Given the description of an element on the screen output the (x, y) to click on. 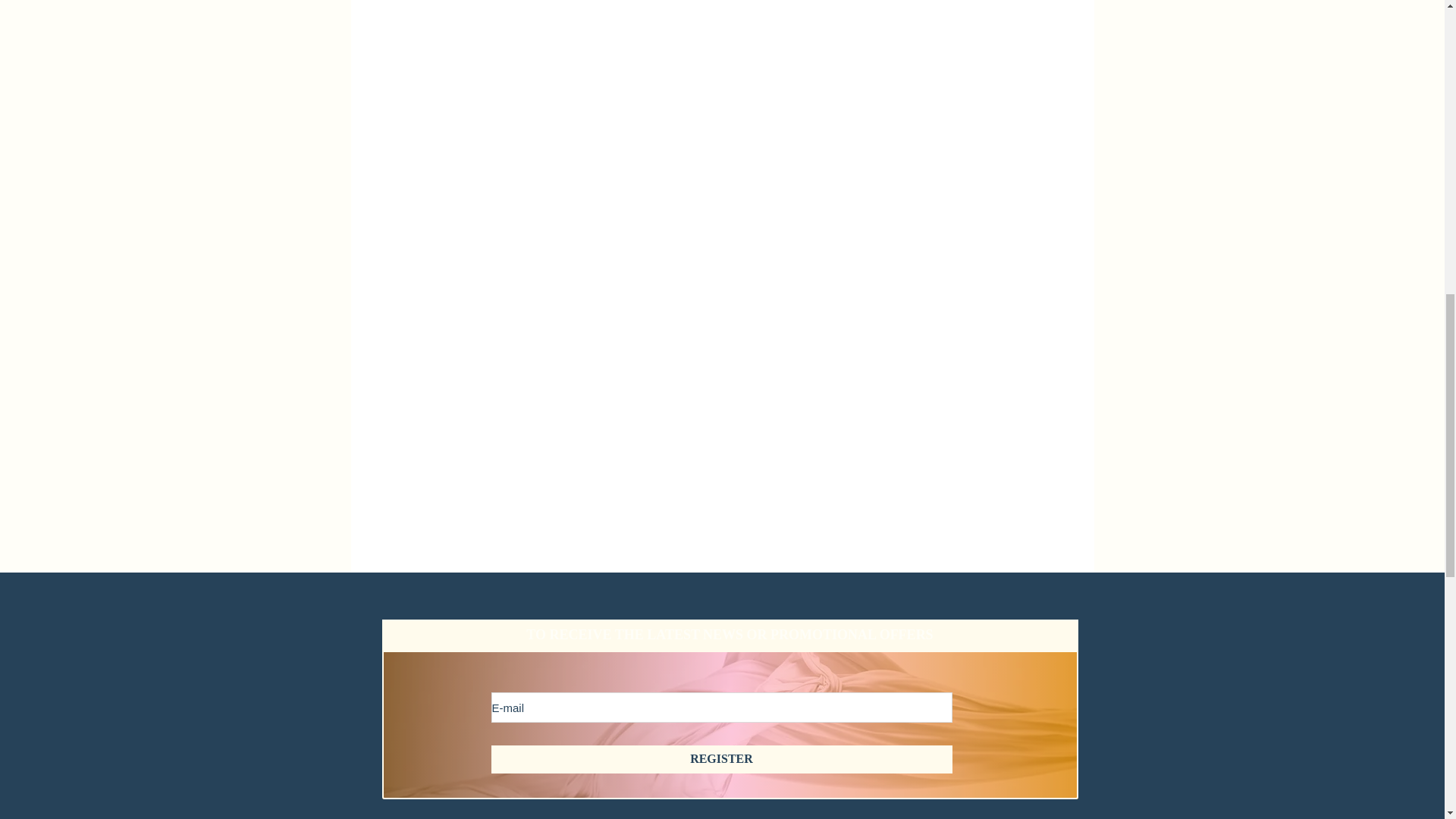
REGISTER (722, 759)
